Given the description of an element on the screen output the (x, y) to click on. 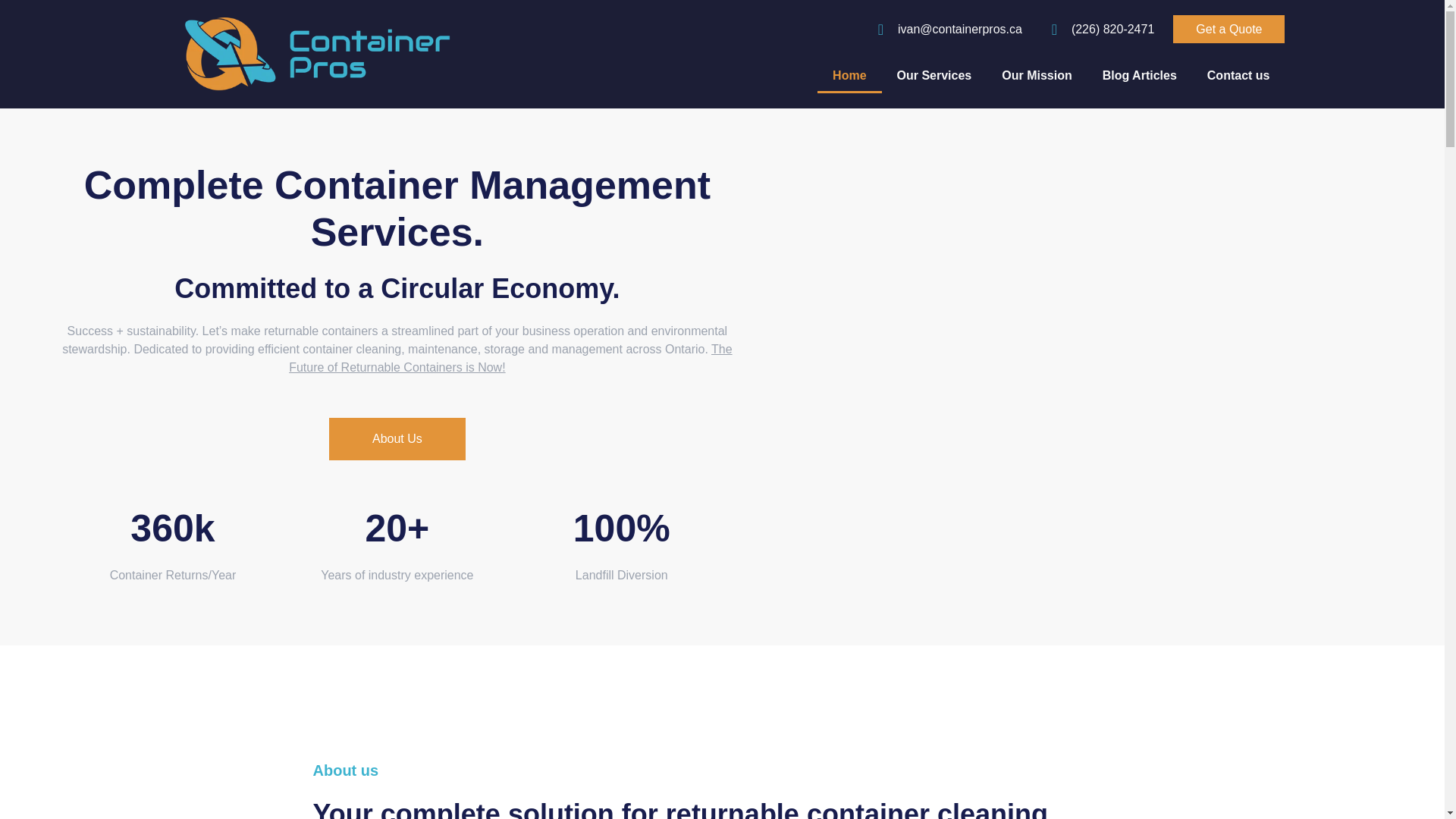
Home (848, 75)
About Us (397, 438)
Blog Articles (1139, 75)
Our Services (934, 75)
Our Mission (1036, 75)
Get a Quote (1228, 29)
Contact us (1238, 75)
